Given the description of an element on the screen output the (x, y) to click on. 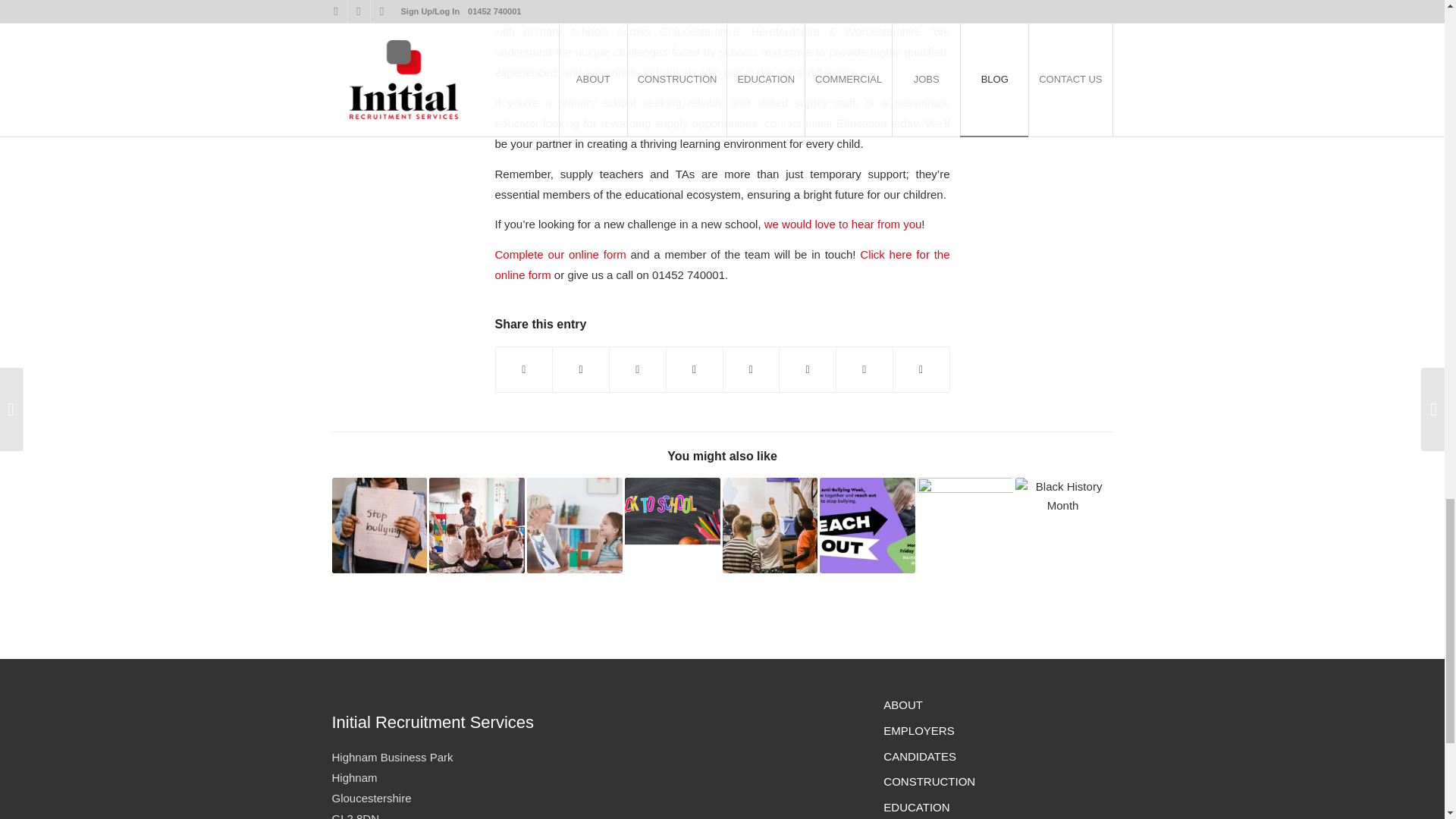
we would love to hear from you (842, 223)
Complete our online form (560, 254)
Click here for the online form (722, 264)
